Given the description of an element on the screen output the (x, y) to click on. 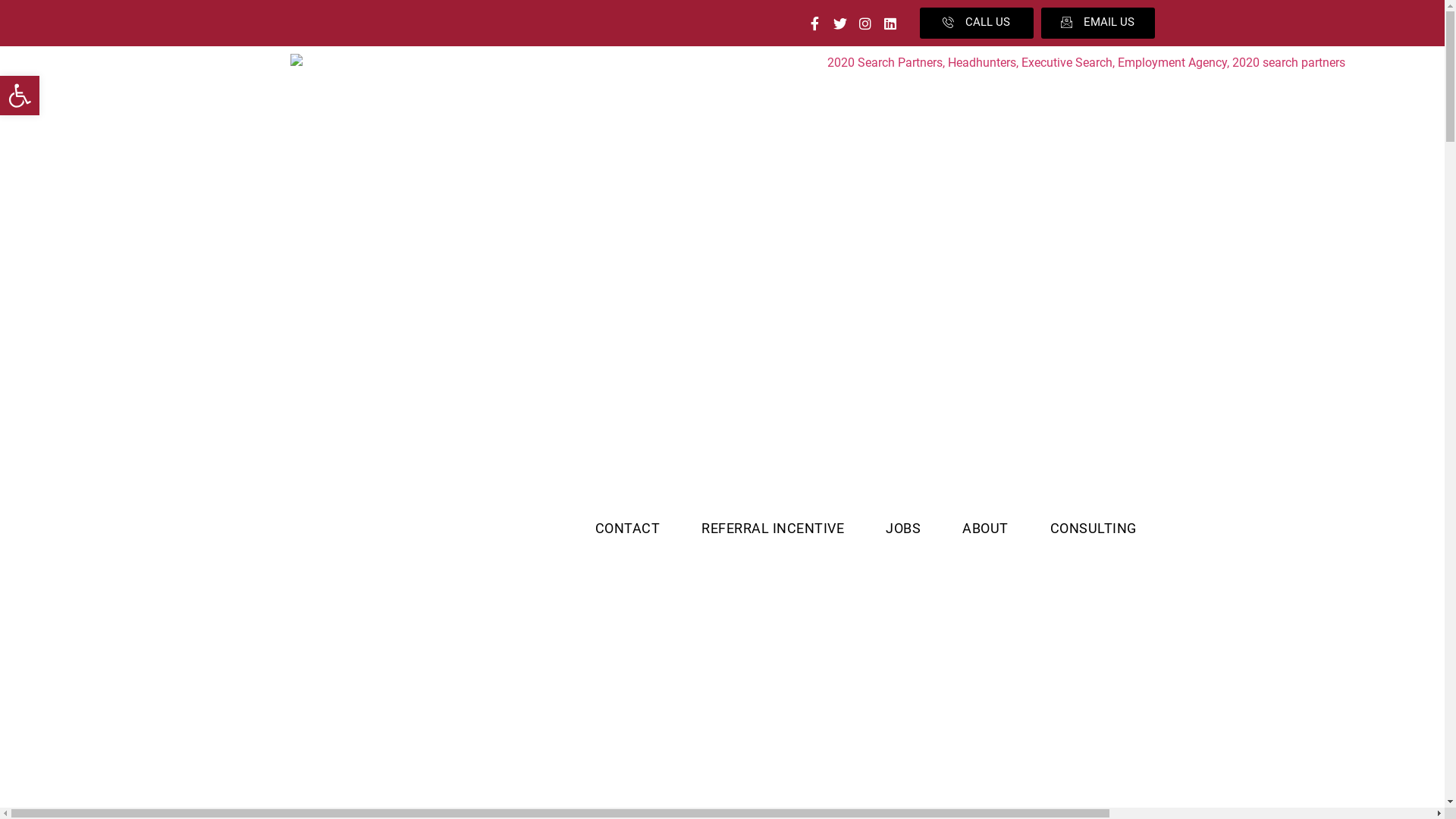
Open toolbar
Accessibility Tools Element type: text (19, 95)
CONTACT Element type: text (627, 528)
ABOUT Element type: text (985, 528)
EMAIL US Element type: text (1097, 22)
REFERRAL INCENTIVE Element type: text (772, 528)
JOBS Element type: text (902, 528)
CALL US Element type: text (975, 22)
CONSULTING Element type: text (1093, 528)
